Given the description of an element on the screen output the (x, y) to click on. 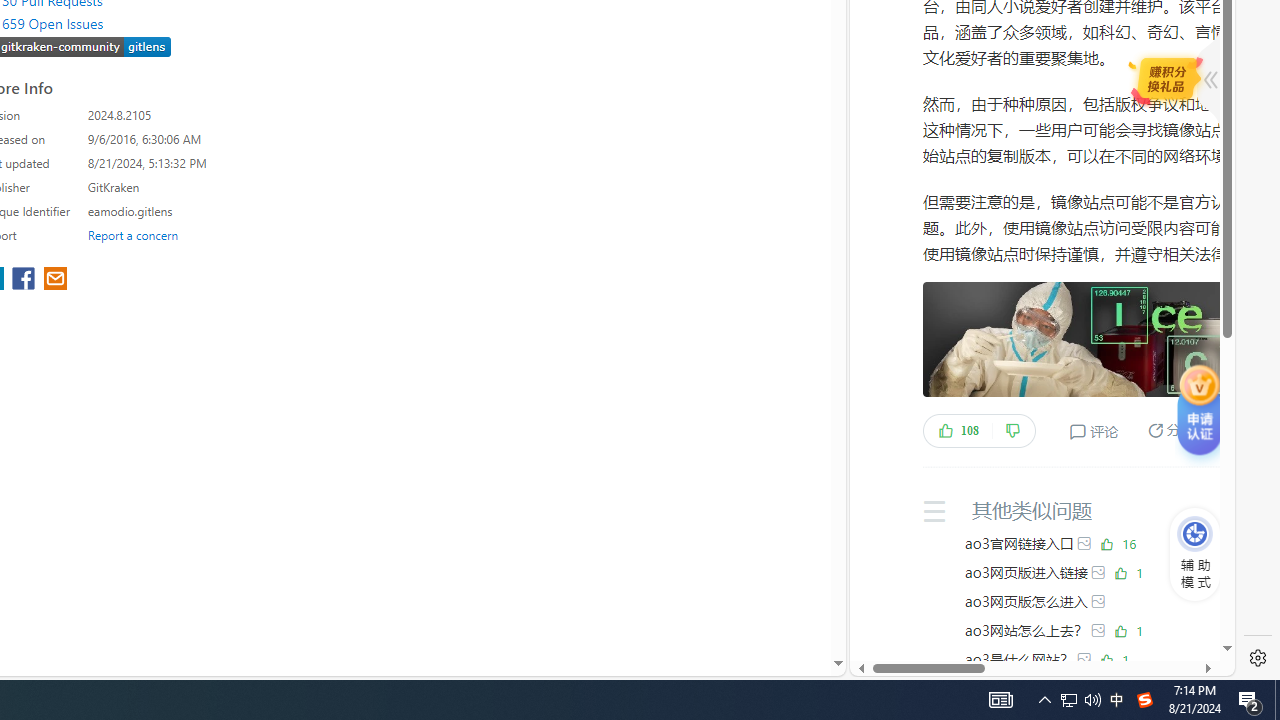
Settings (1258, 658)
share extension on email (54, 280)
OFTV (1034, 587)
Global web icon (888, 587)
Actions for this site (1149, 184)
To get missing image descriptions, open the context menu. (1195, 534)
Report a concern (133, 234)
